Given the description of an element on the screen output the (x, y) to click on. 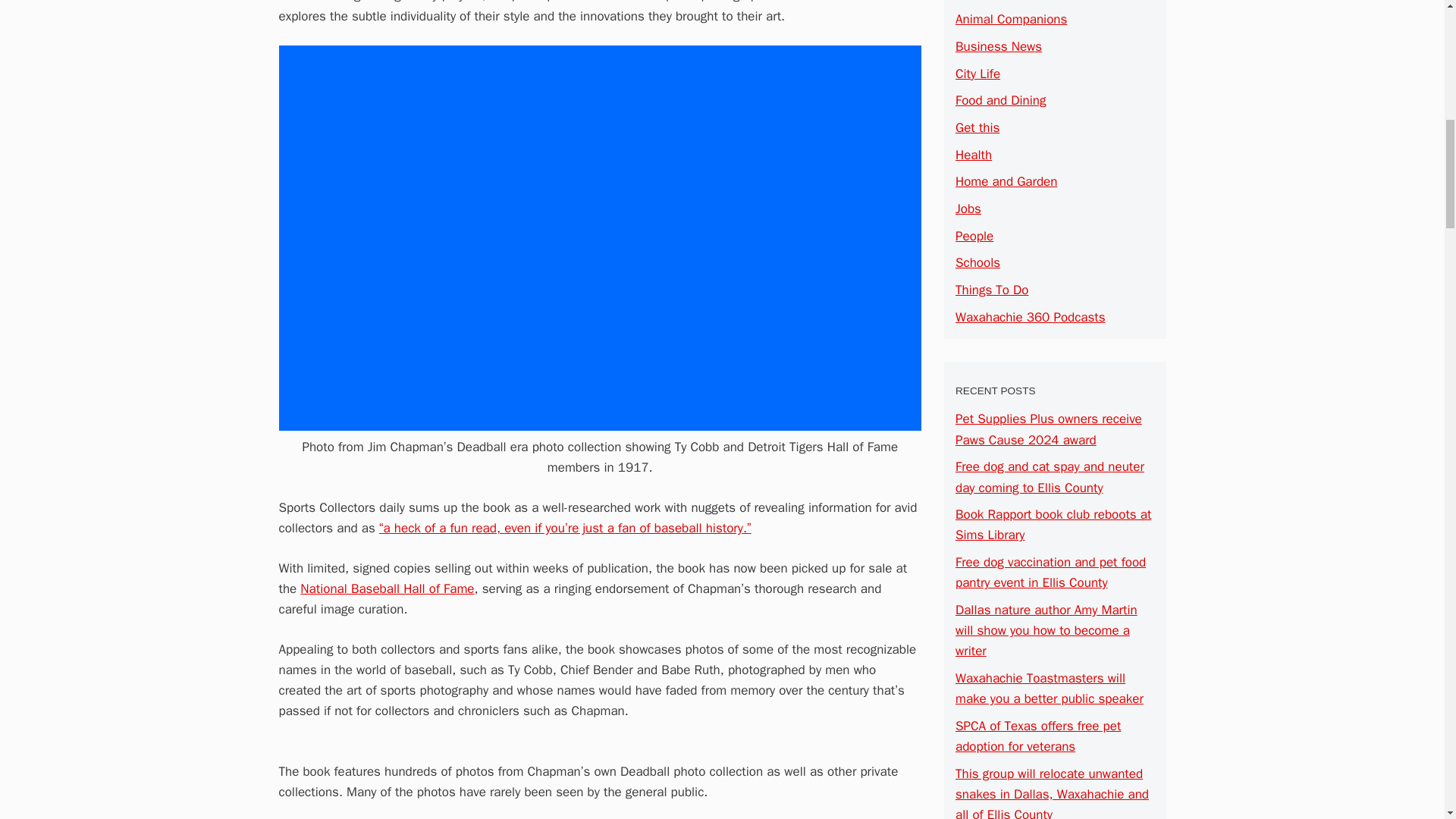
People (973, 236)
Animal Companions (1011, 19)
Book Rapport book club reboots at Sims Library (1053, 524)
Home and Garden (1006, 181)
Get this (976, 127)
Food and Dining (1000, 100)
Schools (977, 262)
Business News (998, 46)
City Life (977, 73)
